Given the description of an element on the screen output the (x, y) to click on. 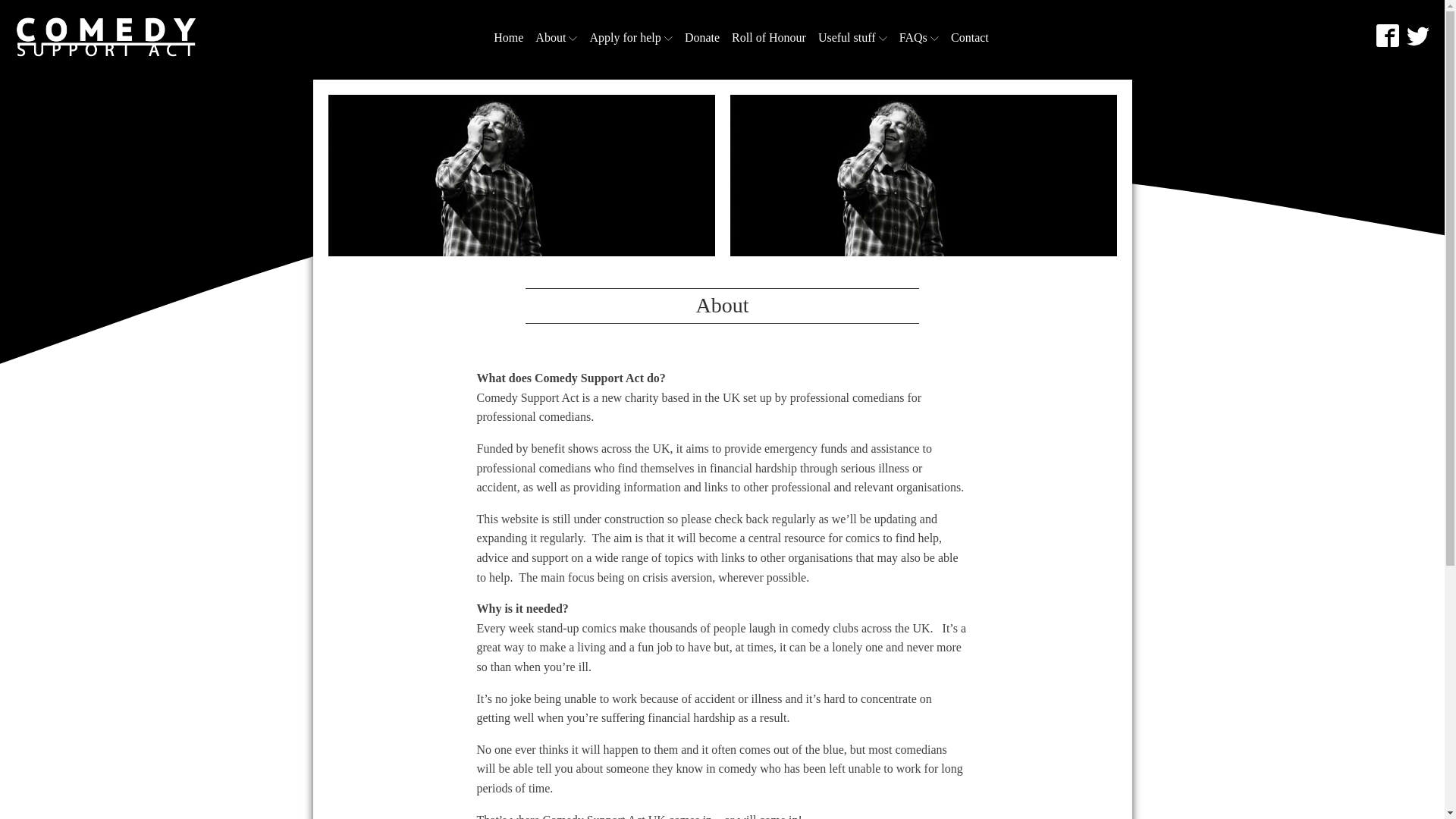
Donate (701, 37)
Contact (969, 37)
Useful stuff (852, 37)
Roll of Honour (768, 37)
About (556, 37)
Apply for help (630, 37)
FAQs (918, 37)
Home (508, 37)
